Given the description of an element on the screen output the (x, y) to click on. 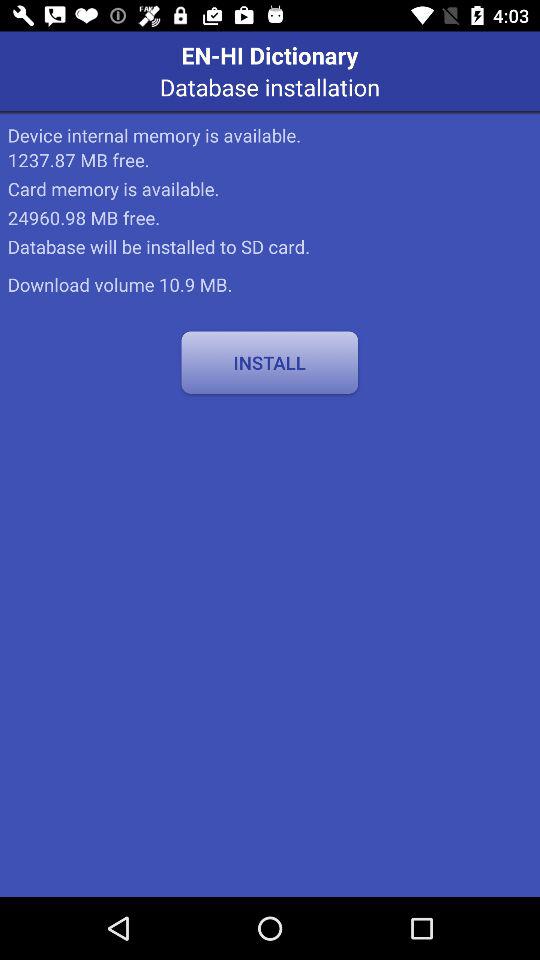
press icon at the center (269, 362)
